Given the description of an element on the screen output the (x, y) to click on. 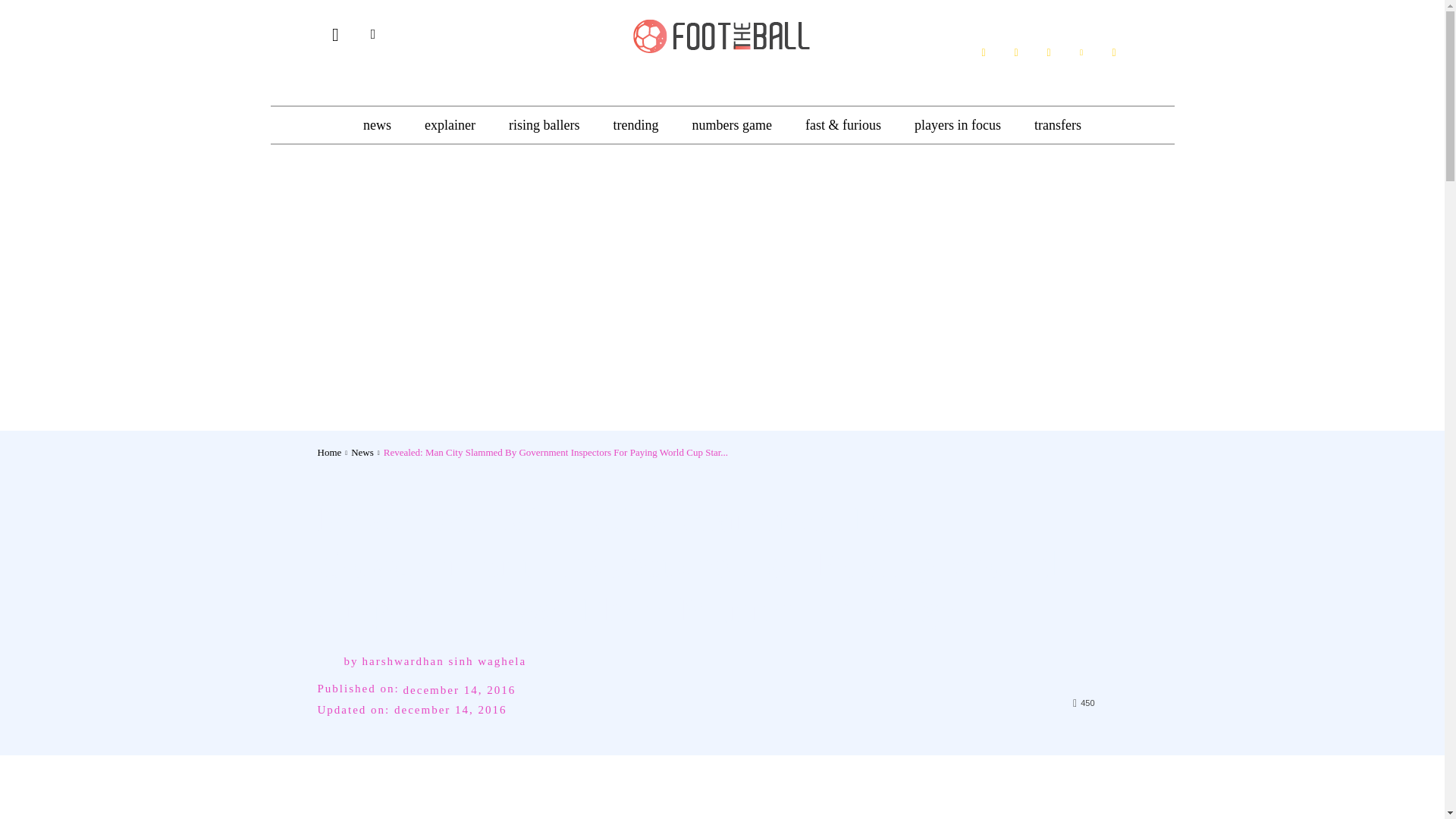
Foottheball (721, 34)
Youtube (1113, 52)
Flipboard (1016, 52)
Facebook (982, 52)
Instagram (1048, 52)
Twitter (1080, 52)
